Given the description of an element on the screen output the (x, y) to click on. 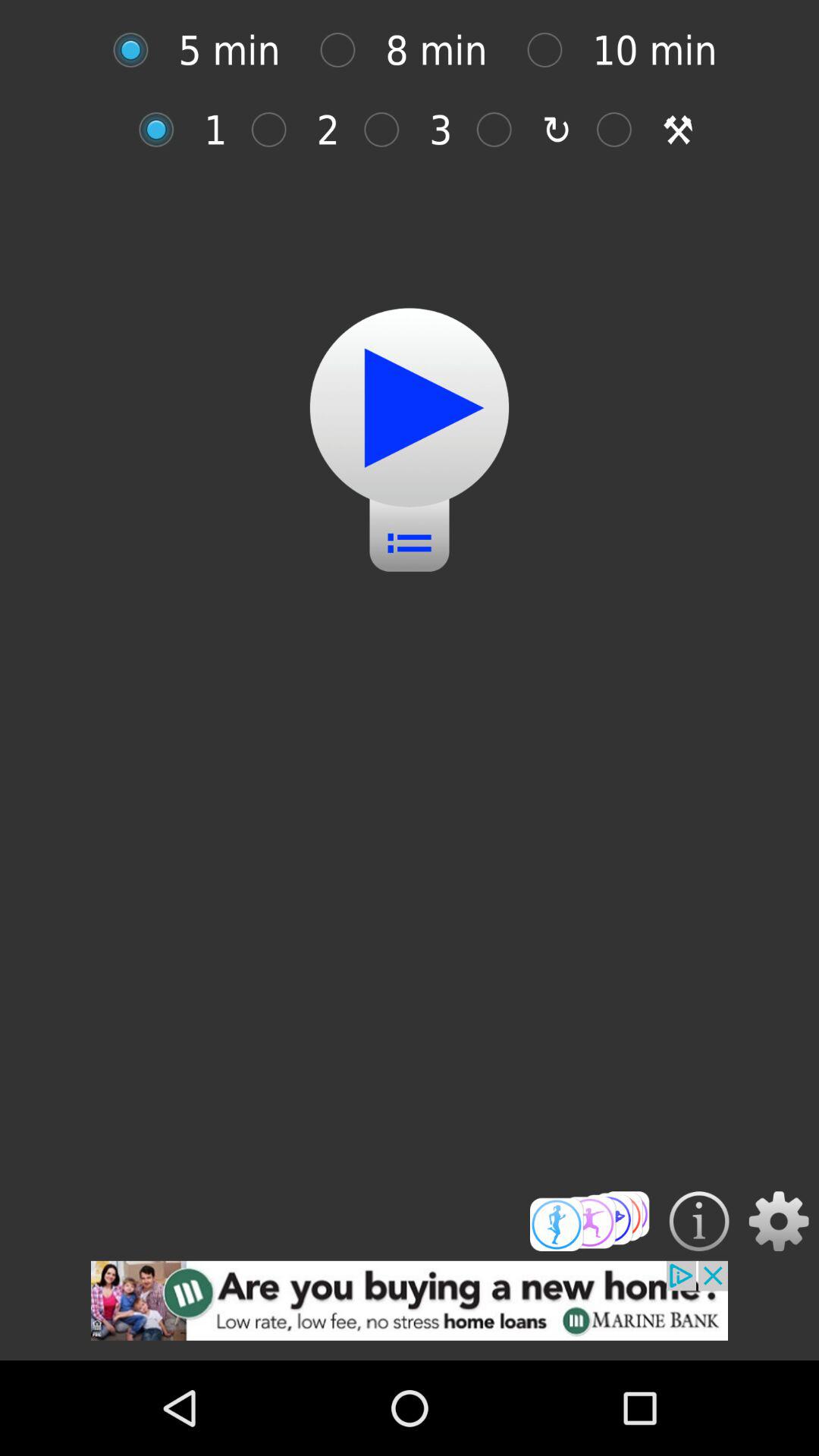
selection colomn (502, 129)
